Given the description of an element on the screen output the (x, y) to click on. 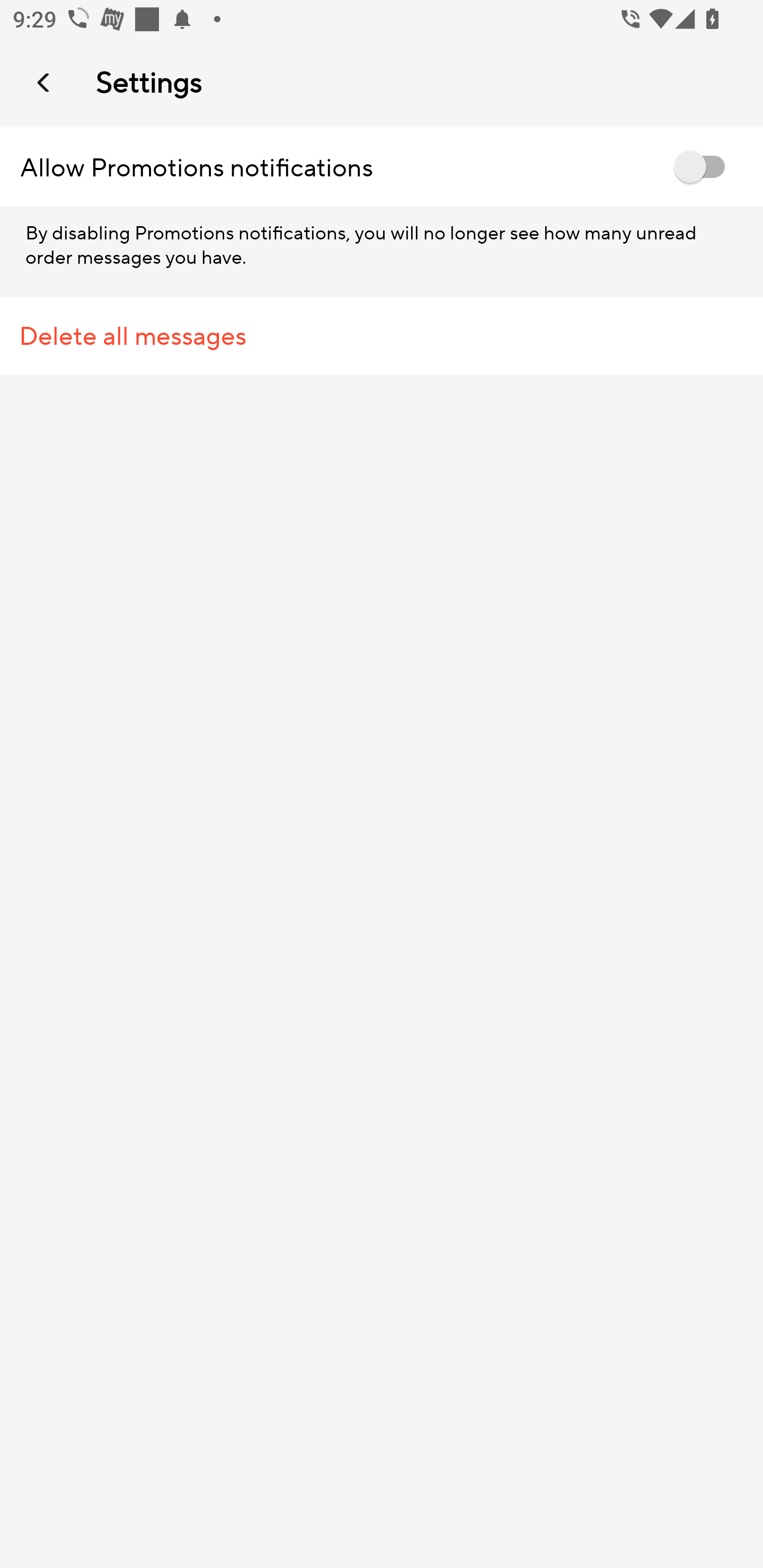
Navigate up (44, 82)
Delete all messages (381, 335)
